Given the description of an element on the screen output the (x, y) to click on. 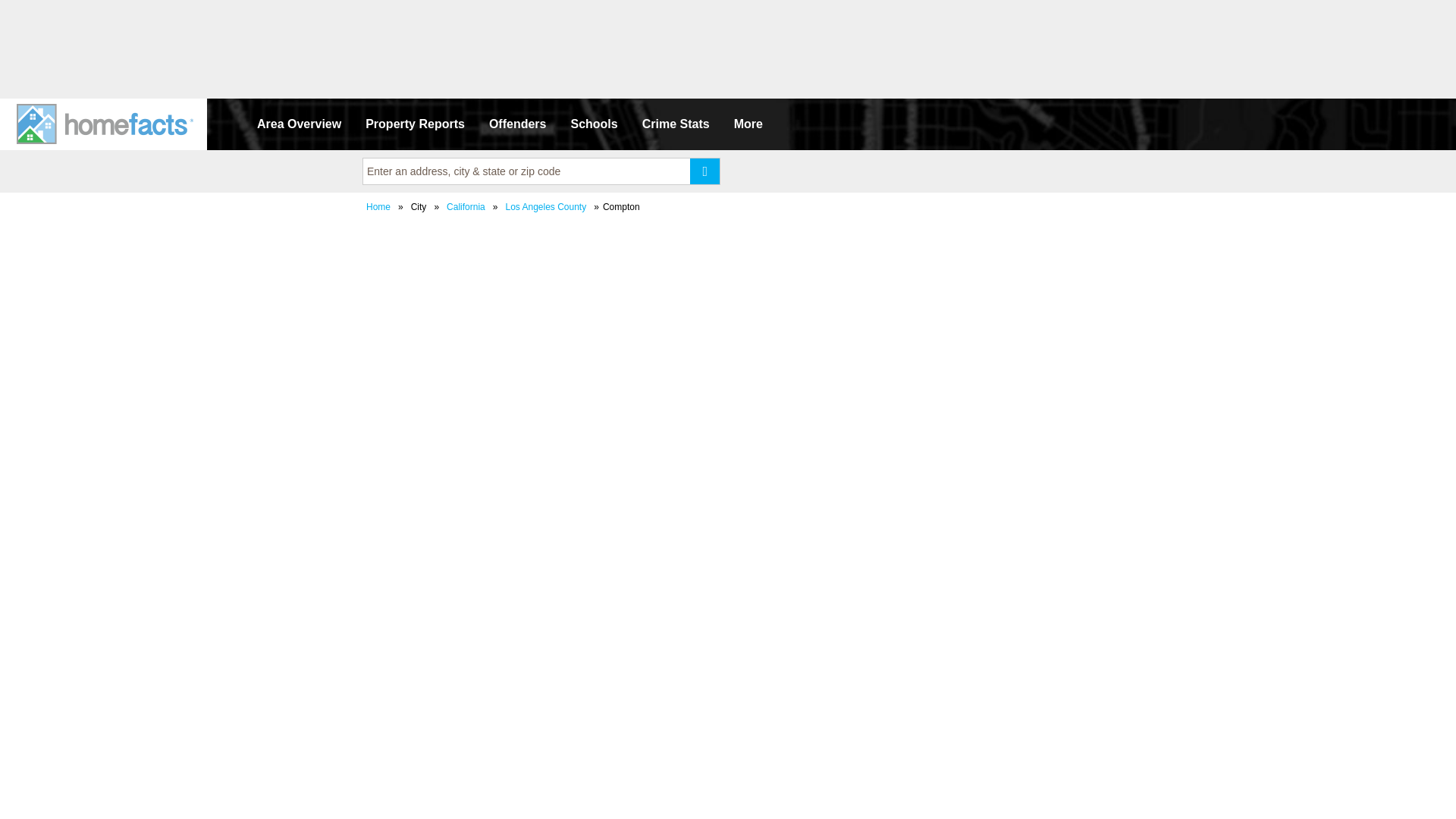
California (465, 206)
Property Reports (415, 123)
Home (378, 206)
Schools (592, 123)
Los Angeles County (544, 206)
Crime Stats (676, 123)
Crime Stats (676, 123)
homefacts.com (106, 123)
Area Overview (298, 123)
Offenders (518, 123)
Offenders (518, 123)
Property Reports (415, 123)
Area Overview (298, 123)
Schools (592, 123)
More (748, 123)
